Given the description of an element on the screen output the (x, y) to click on. 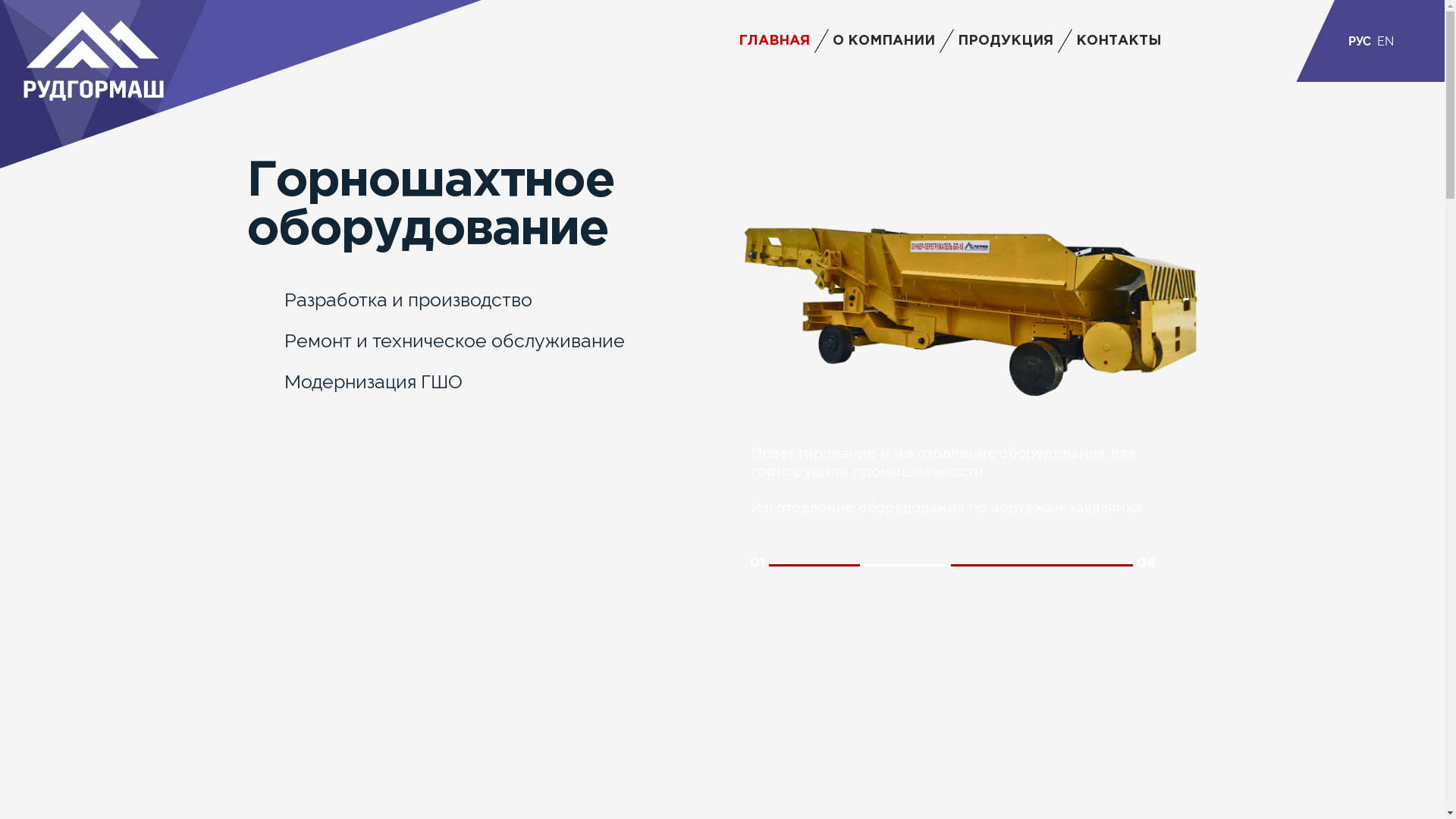
EN Element type: text (1385, 40)
4 Element type: text (1086, 565)
1 Element type: text (813, 565)
2 Element type: text (904, 565)
3 Element type: text (995, 565)
